Given the description of an element on the screen output the (x, y) to click on. 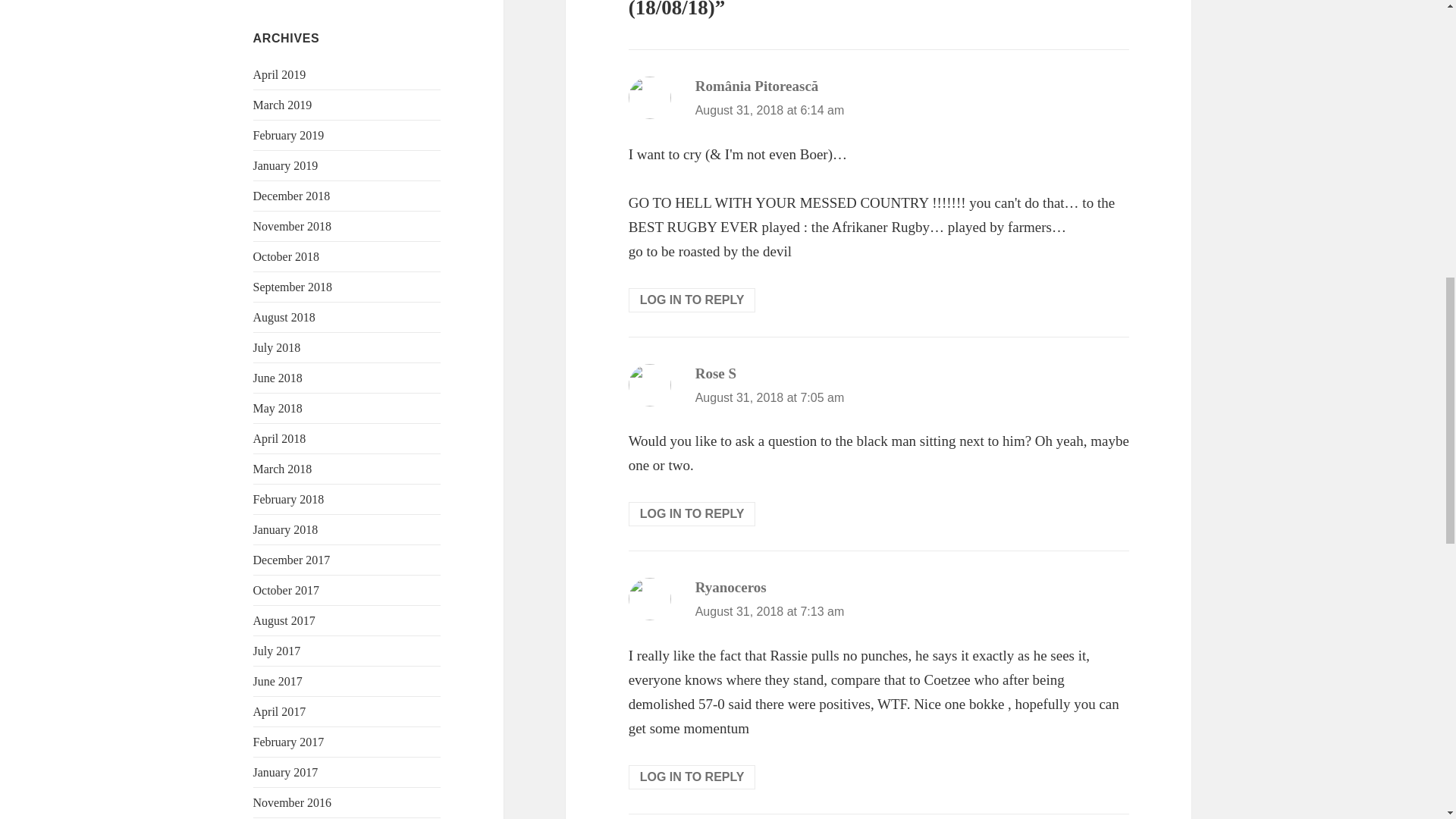
May 2018 (277, 408)
February 2018 (288, 499)
November 2018 (292, 226)
December 2018 (291, 195)
January 2019 (285, 164)
August 2017 (284, 620)
March 2019 (283, 104)
April 2017 (279, 711)
February 2017 (288, 741)
October 2017 (286, 590)
October 2018 (286, 256)
February 2019 (288, 134)
June 2017 (277, 680)
November 2016 (292, 802)
January 2017 (285, 771)
